Given the description of an element on the screen output the (x, y) to click on. 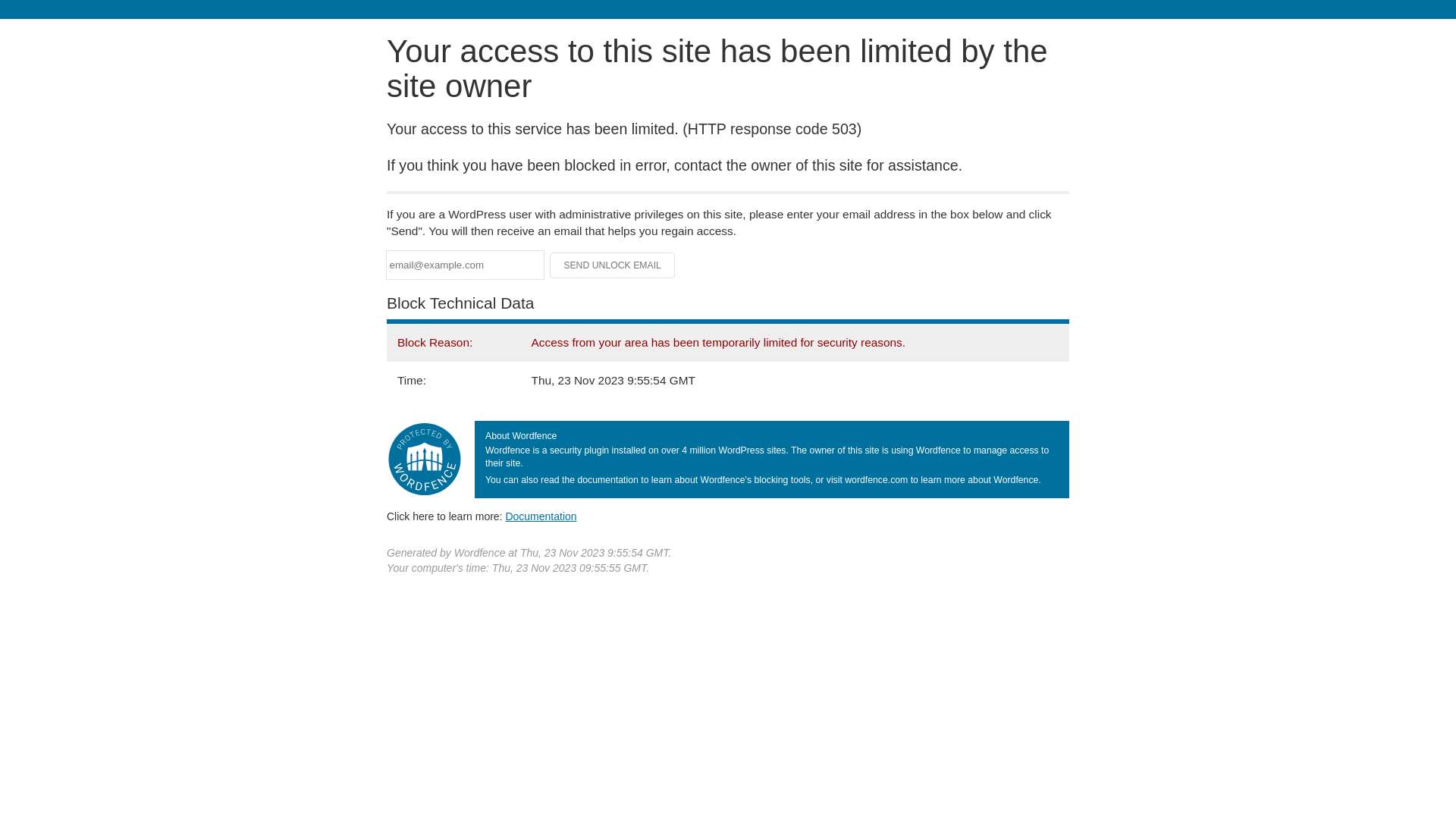
Documentation Element type: text (540, 516)
Send Unlock Email Element type: text (612, 265)
